Given the description of an element on the screen output the (x, y) to click on. 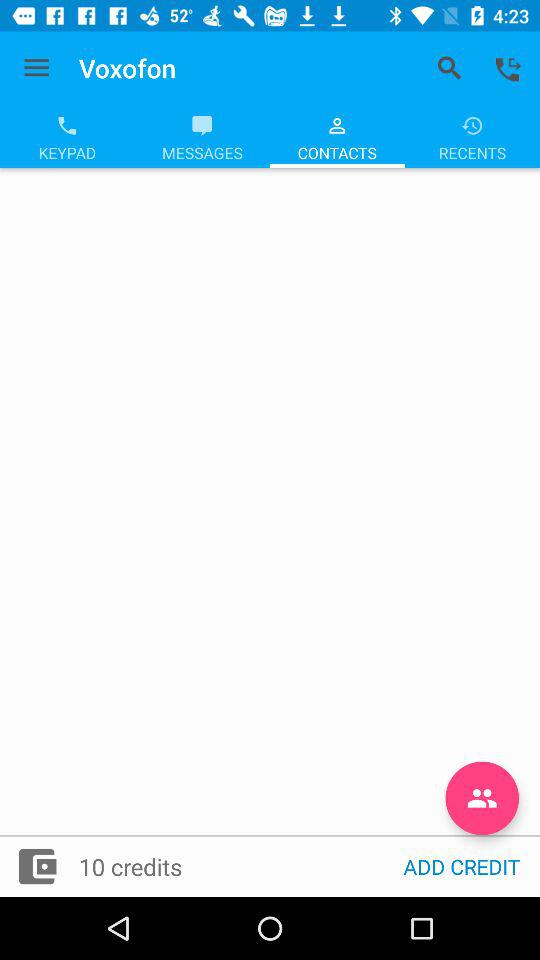
turn off the item below recents item (482, 798)
